Given the description of an element on the screen output the (x, y) to click on. 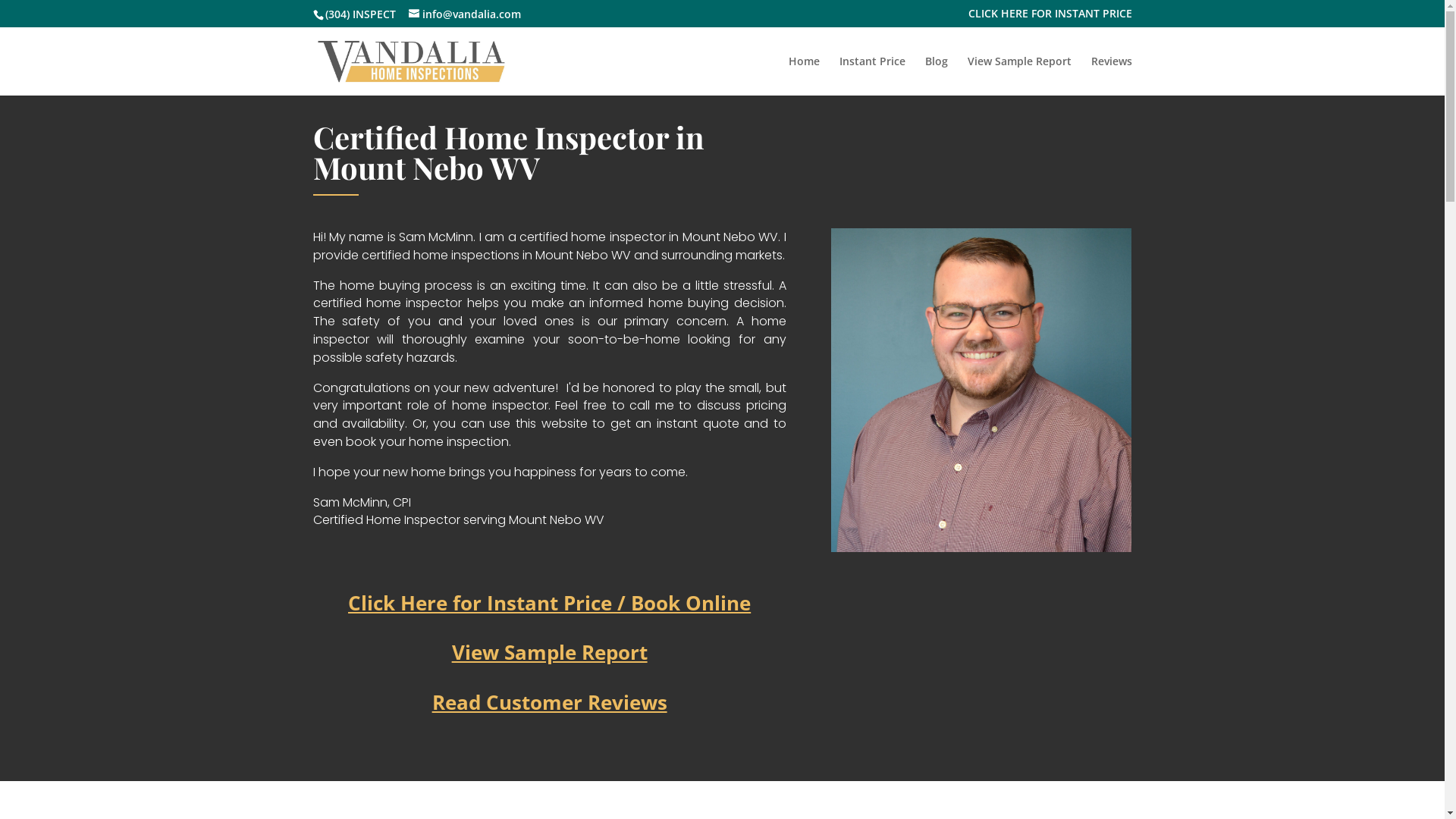
Blog Element type: text (936, 75)
Reviews Element type: text (1110, 75)
Read Customer Reviews Element type: text (549, 701)
sam Element type: hover (981, 390)
View Sample Report Element type: text (549, 651)
Home Element type: text (803, 75)
info@vandalia.com Element type: text (463, 13)
Click Here for Instant Price / Book Online Element type: text (549, 602)
CLICK HERE FOR INSTANT PRICE Element type: text (1049, 16)
View Sample Report Element type: text (1019, 75)
Instant Price Element type: text (871, 75)
